Given the description of an element on the screen output the (x, y) to click on. 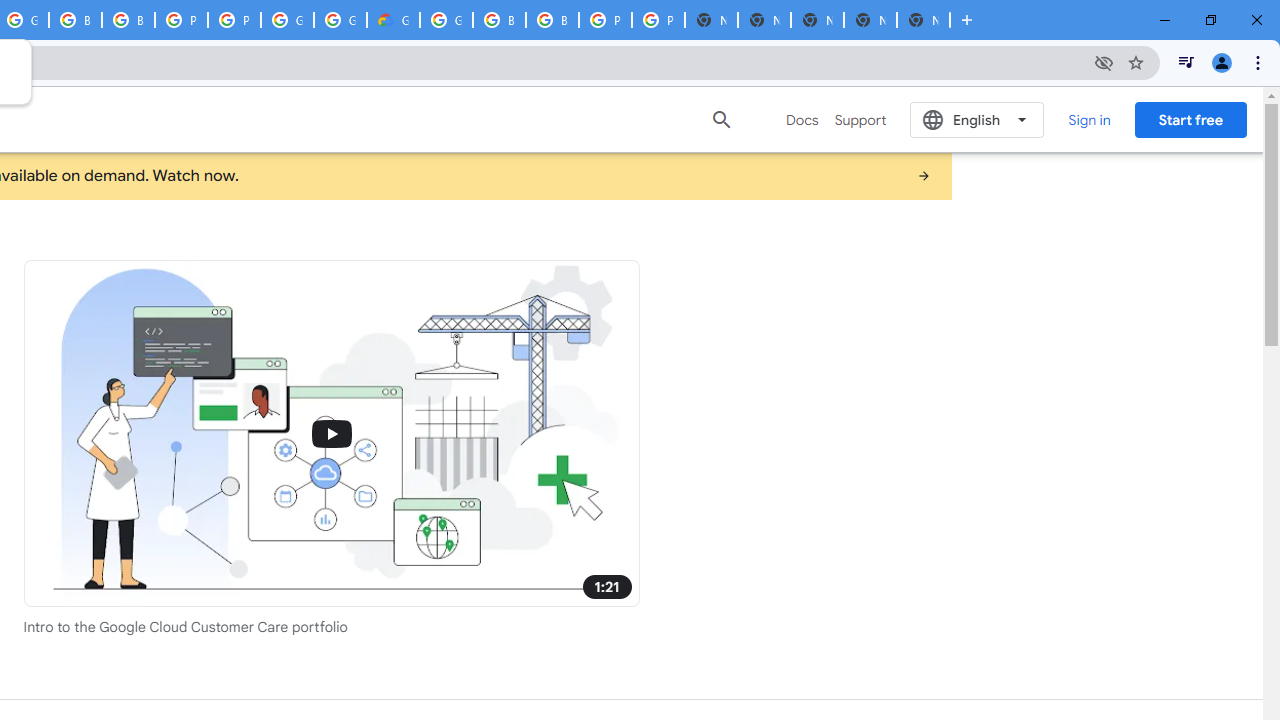
Google Cloud Platform (287, 20)
Browse Chrome as a guest - Computer - Google Chrome Help (75, 20)
Google Cloud Platform (446, 20)
New Tab (923, 20)
Browse Chrome as a guest - Computer - Google Chrome Help (128, 20)
Browse Chrome as a guest - Computer - Google Chrome Help (552, 20)
